Given the description of an element on the screen output the (x, y) to click on. 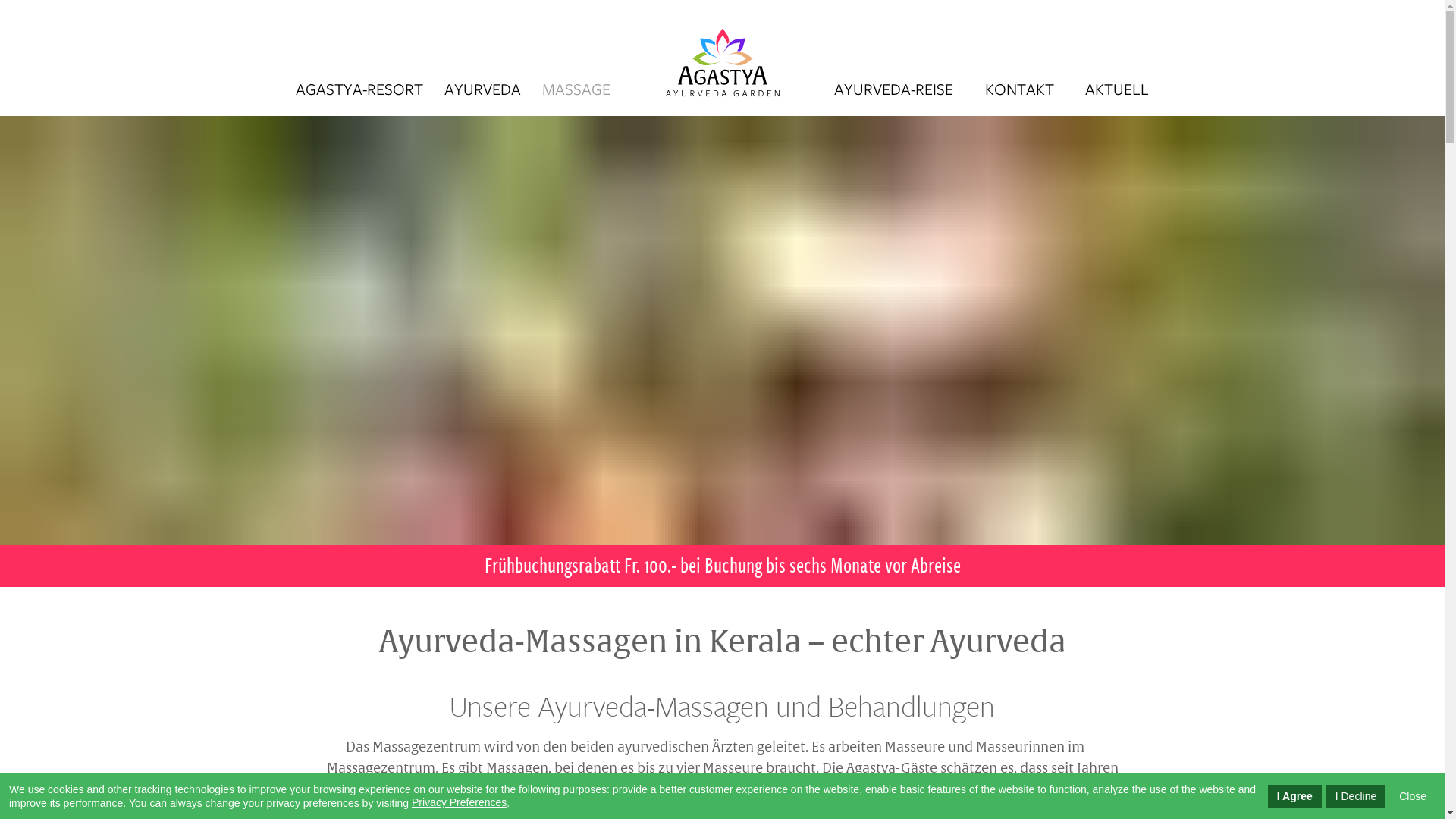
MASSAGE Element type: text (575, 92)
AYURVEDA-REISE Element type: text (894, 82)
I Agree Element type: text (1294, 795)
Privacy Preferences Element type: text (458, 802)
AKTUELL Element type: text (1116, 82)
AYURVEDA Element type: text (482, 92)
I Decline Element type: text (1355, 795)
AGASTYA-RESORT Element type: text (359, 92)
KONTAKT Element type: text (1019, 82)
Close Element type: text (1412, 795)
